Given the description of an element on the screen output the (x, y) to click on. 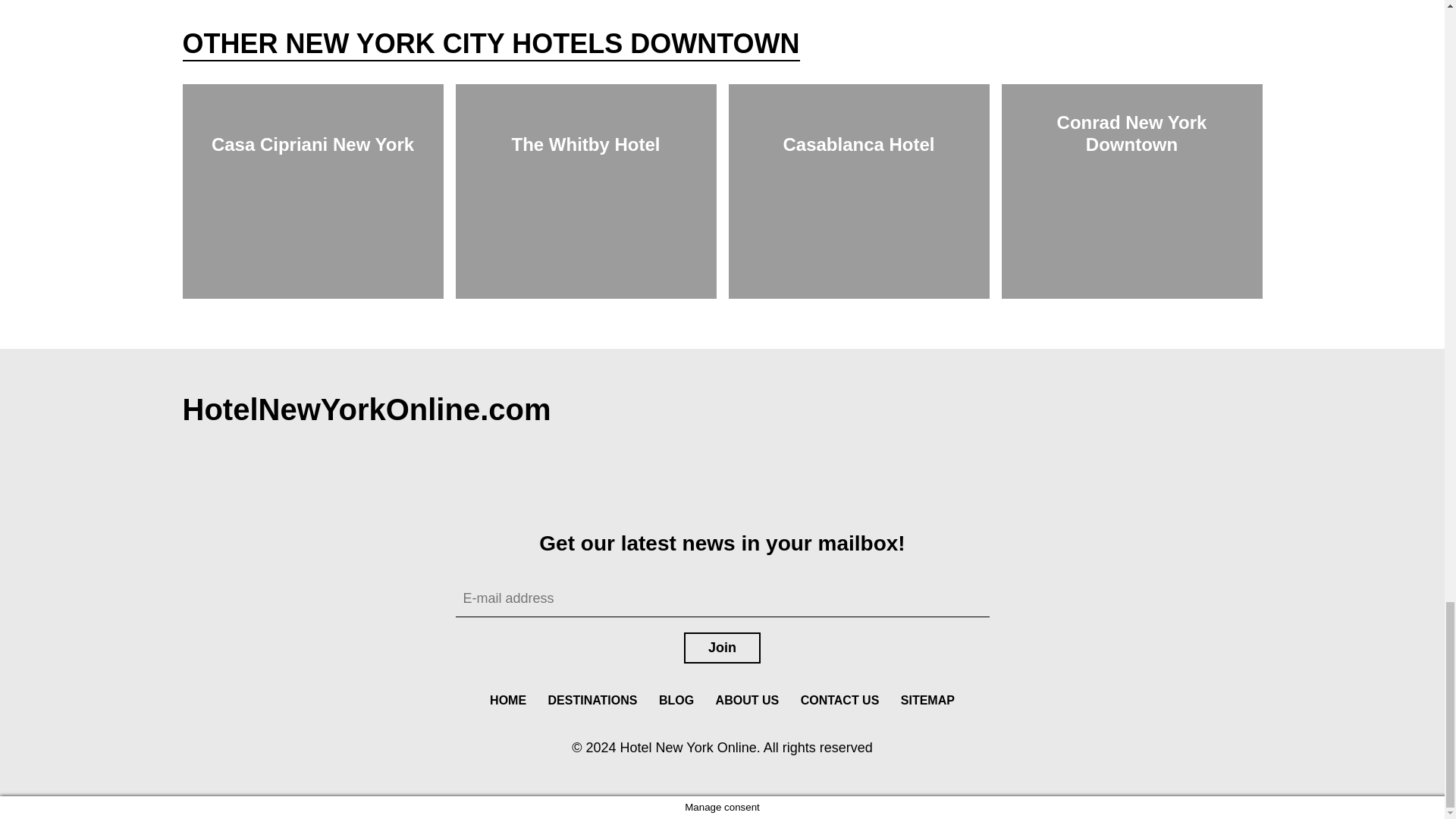
DESTINATIONS (592, 700)
HOME (507, 700)
Join (722, 647)
ABOUT US (747, 700)
Join (722, 647)
CONTACT US (840, 700)
BLOG (676, 700)
